Given the description of an element on the screen output the (x, y) to click on. 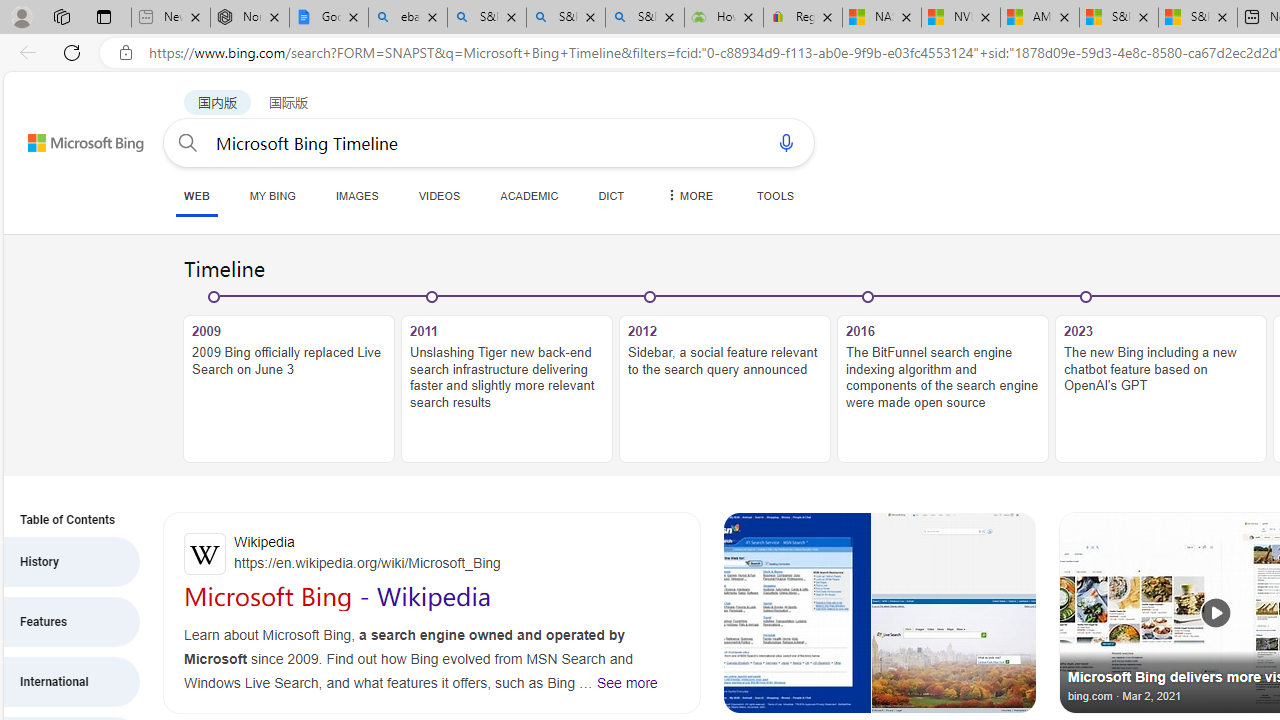
Google Docs: Online Document Editor | Google Workspace (329, 17)
ACADEMIC (529, 195)
Global web icon (205, 553)
IMAGES (356, 195)
IMAGES (356, 195)
How the S&P 500 Performed During Major Market Crashes (723, 17)
See more GeneratedCaptionsTabForHeroSec (626, 682)
Dropdown Menu (688, 195)
WEB (196, 195)
Search button (187, 142)
S&P 500, Nasdaq end lower, weighed by Nvidia dip | Watch (1197, 17)
